Given the description of an element on the screen output the (x, y) to click on. 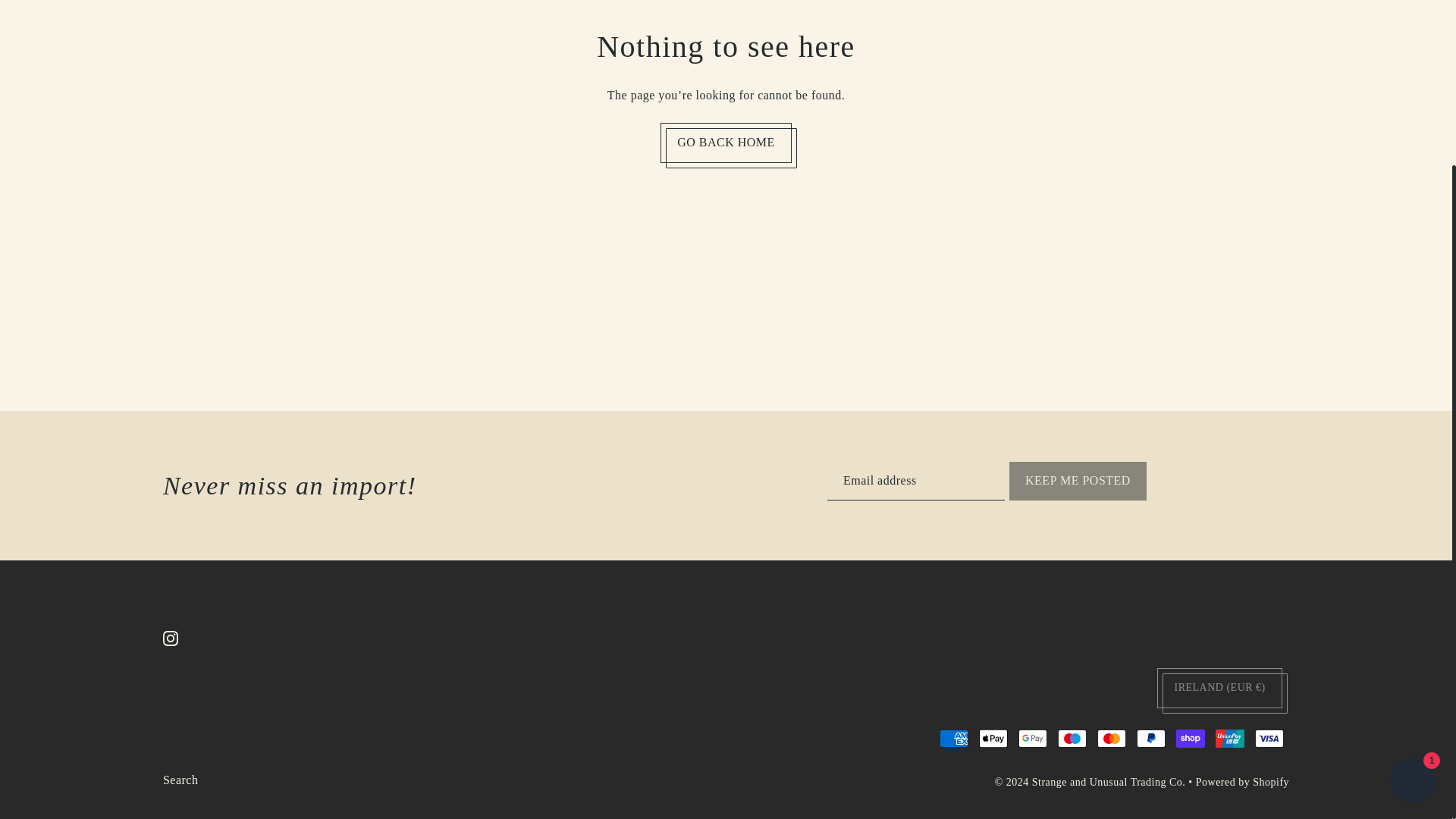
Mastercard (1111, 738)
Union Pay (1229, 738)
PayPal (1151, 738)
Visa (1269, 738)
Apple Pay (992, 738)
Google Pay (1031, 738)
American Express (953, 738)
Maestro (1072, 738)
Shop Pay (1190, 738)
Shopify online store chat (1412, 574)
